Given the description of an element on the screen output the (x, y) to click on. 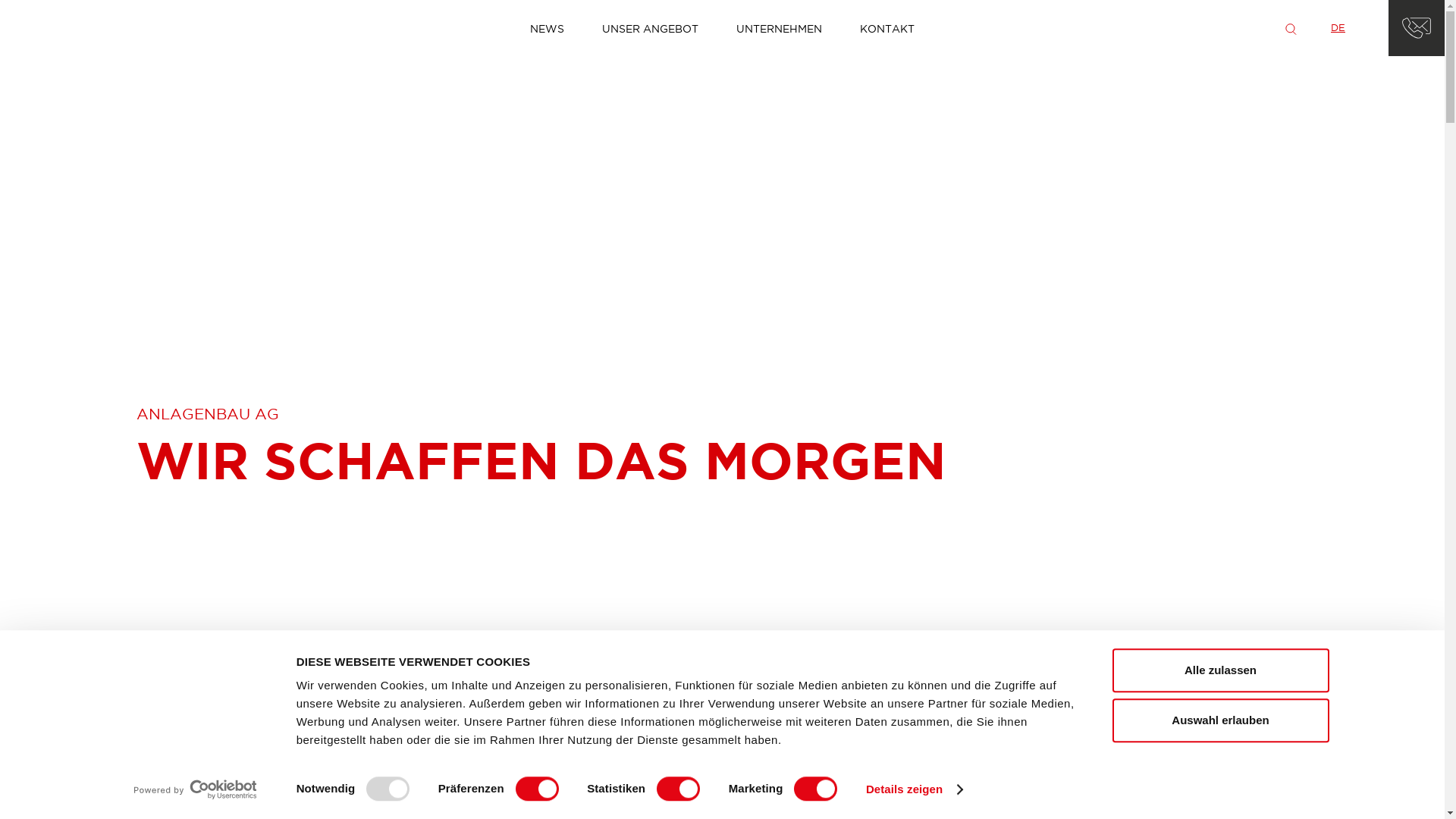
Details zeigen Element type: text (914, 789)
Auswahl erlauben Element type: text (1219, 720)
Anlagenbau Element type: text (84, 28)
UNSER ANGEBOT Element type: text (650, 26)
UNTERNEHMEN Element type: text (778, 26)
Alle zulassen Element type: text (1219, 670)
EN Element type: text (1367, 27)
KONTAKT Element type: text (886, 26)
Kontakt Element type: hover (1416, 28)
NEWS Element type: text (547, 26)
